Given the description of an element on the screen output the (x, y) to click on. 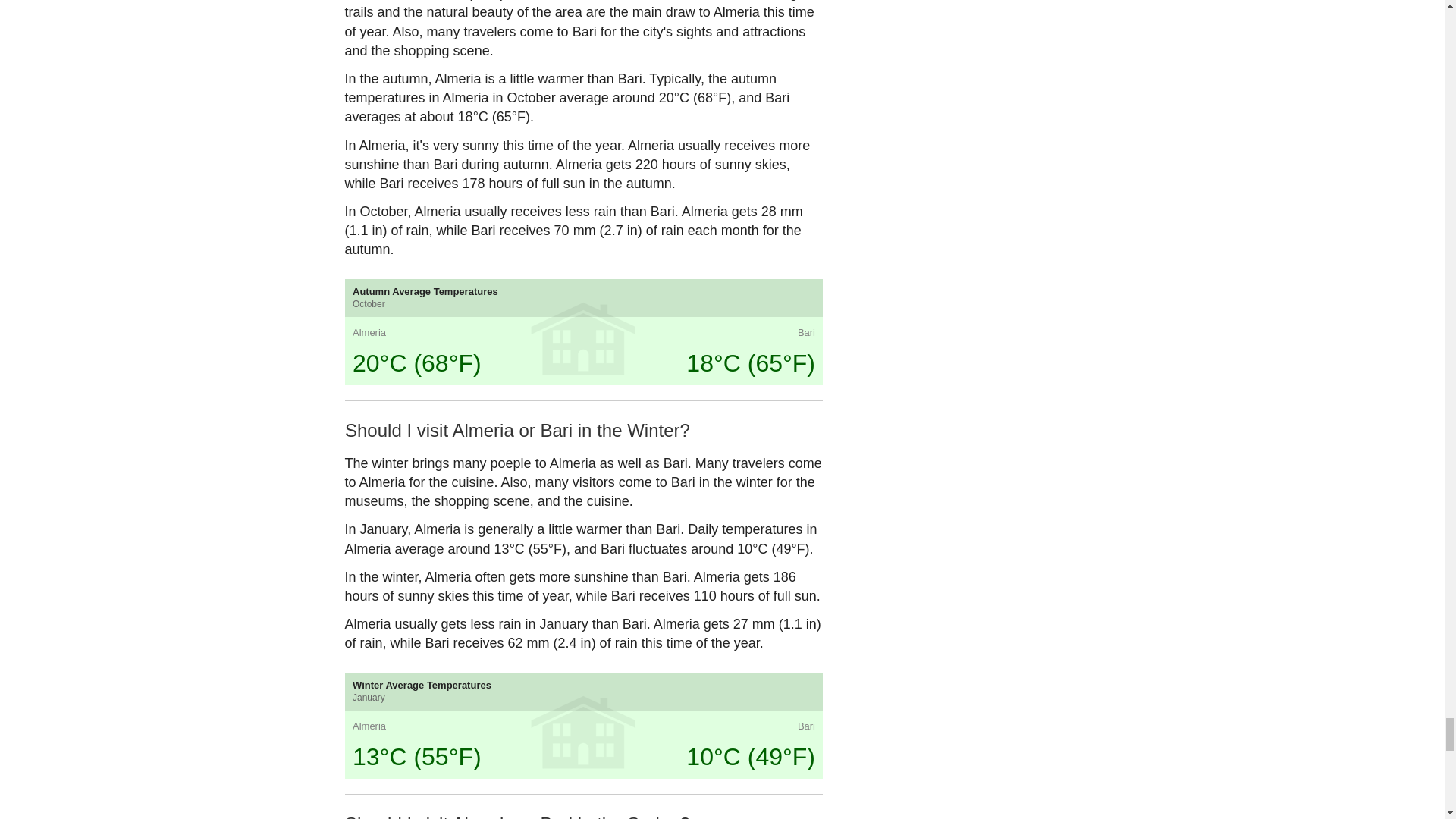
Travel Costs for Gran Canaria (400, 436)
Travel Costs for Milan (643, 436)
Travel Costs for Valencia (522, 436)
Travel Costs for Madrid (400, 359)
Travel Costs for Rome (764, 359)
Travel Costs for Palermo (764, 511)
Travel Costs for Seville (400, 511)
Affordable Hostels and Bed and Breakfasts in Bari, Italy (643, 359)
Travel Costs for Zaragoza (522, 511)
Travel Costs for Naples (764, 436)
Travel Costs for Barcelona (522, 359)
